Given the description of an element on the screen output the (x, y) to click on. 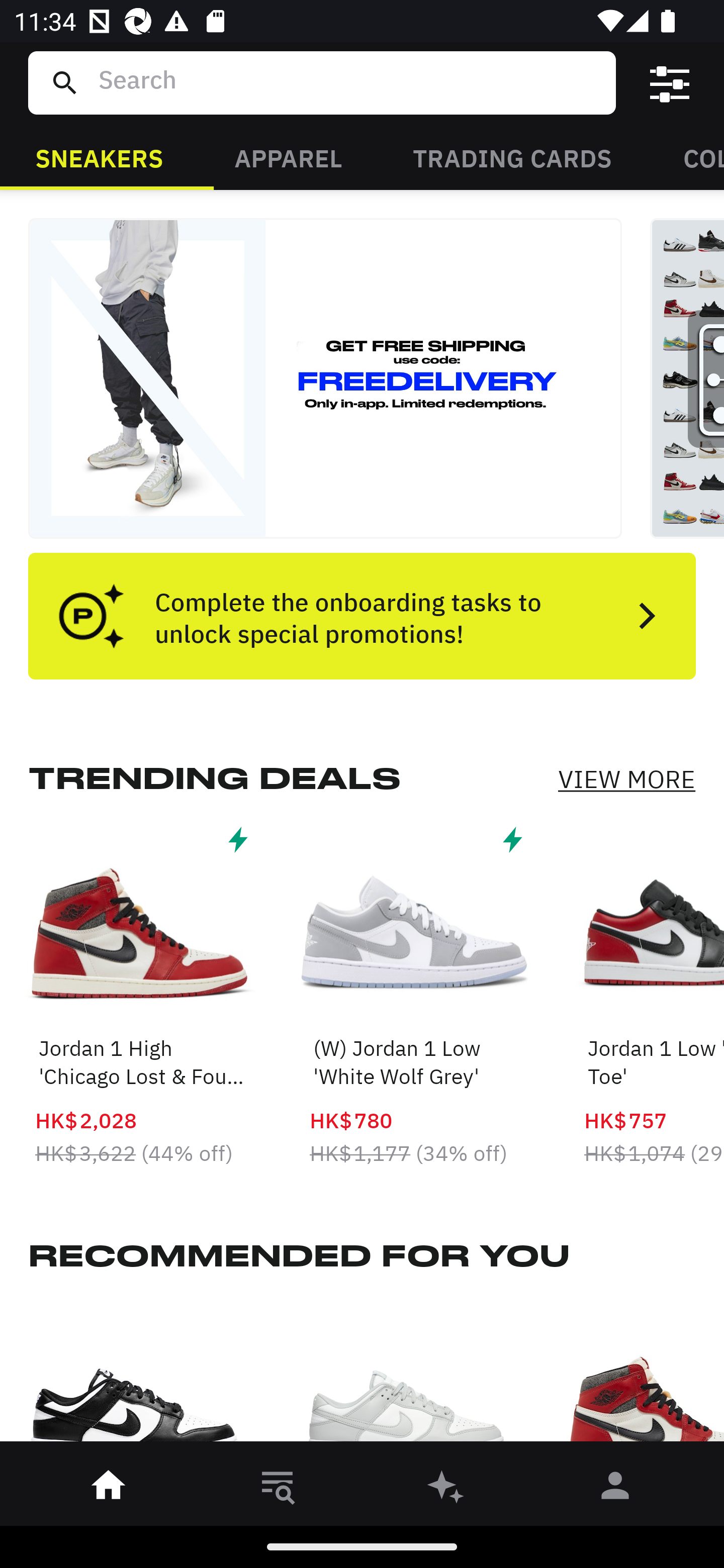
Search (349, 82)
 (669, 82)
SNEAKERS (99, 156)
APPAREL (287, 156)
TRADING CARDS (512, 156)
VIEW MORE (626, 779)
󰋜 (108, 1488)
󱎸 (277, 1488)
󰫢 (446, 1488)
󰀄 (615, 1488)
